Given the description of an element on the screen output the (x, y) to click on. 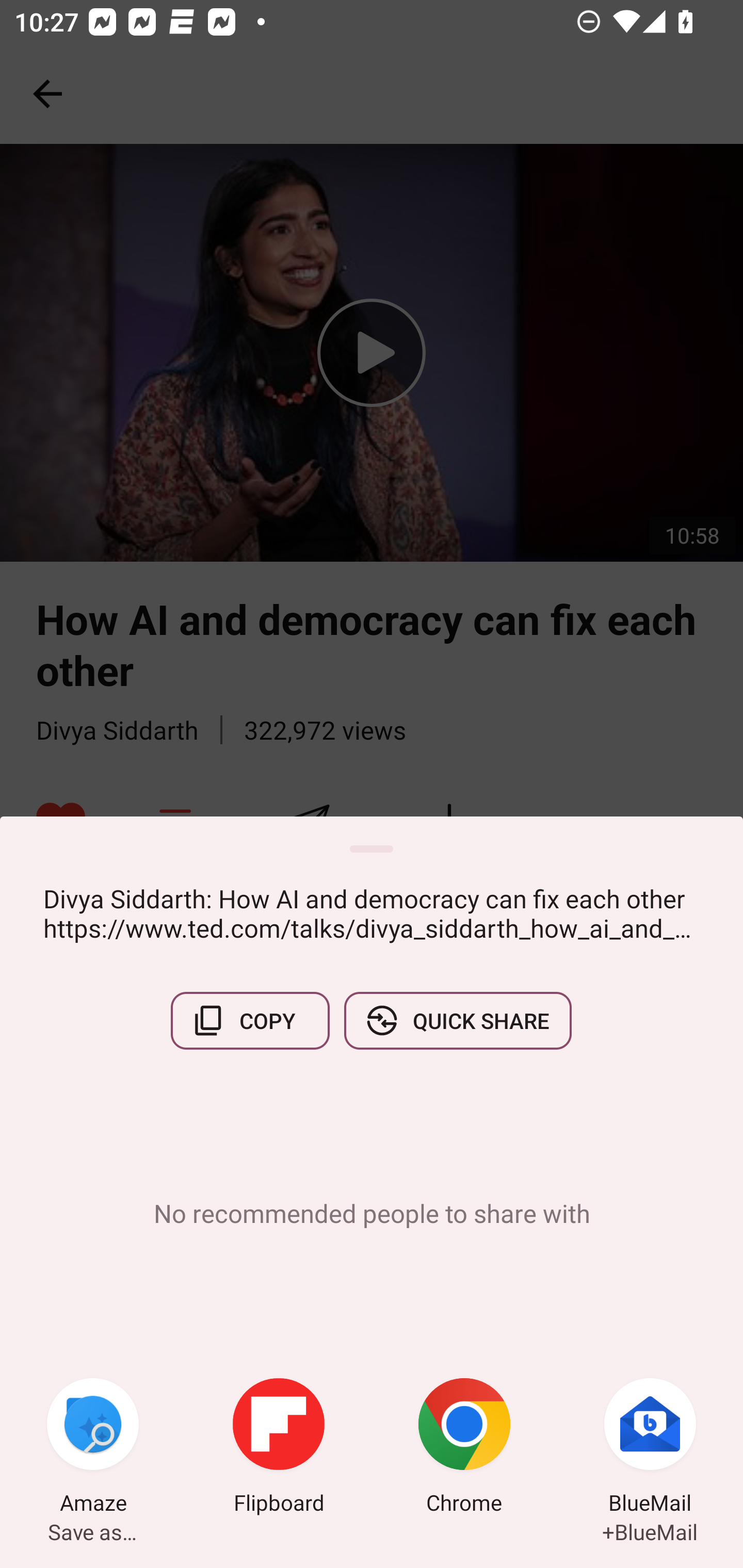
COPY (249, 1020)
QUICK SHARE (457, 1020)
Amaze Save as… (92, 1448)
Flipboard (278, 1448)
Chrome (464, 1448)
BlueMail +BlueMail (650, 1448)
